Given the description of an element on the screen output the (x, y) to click on. 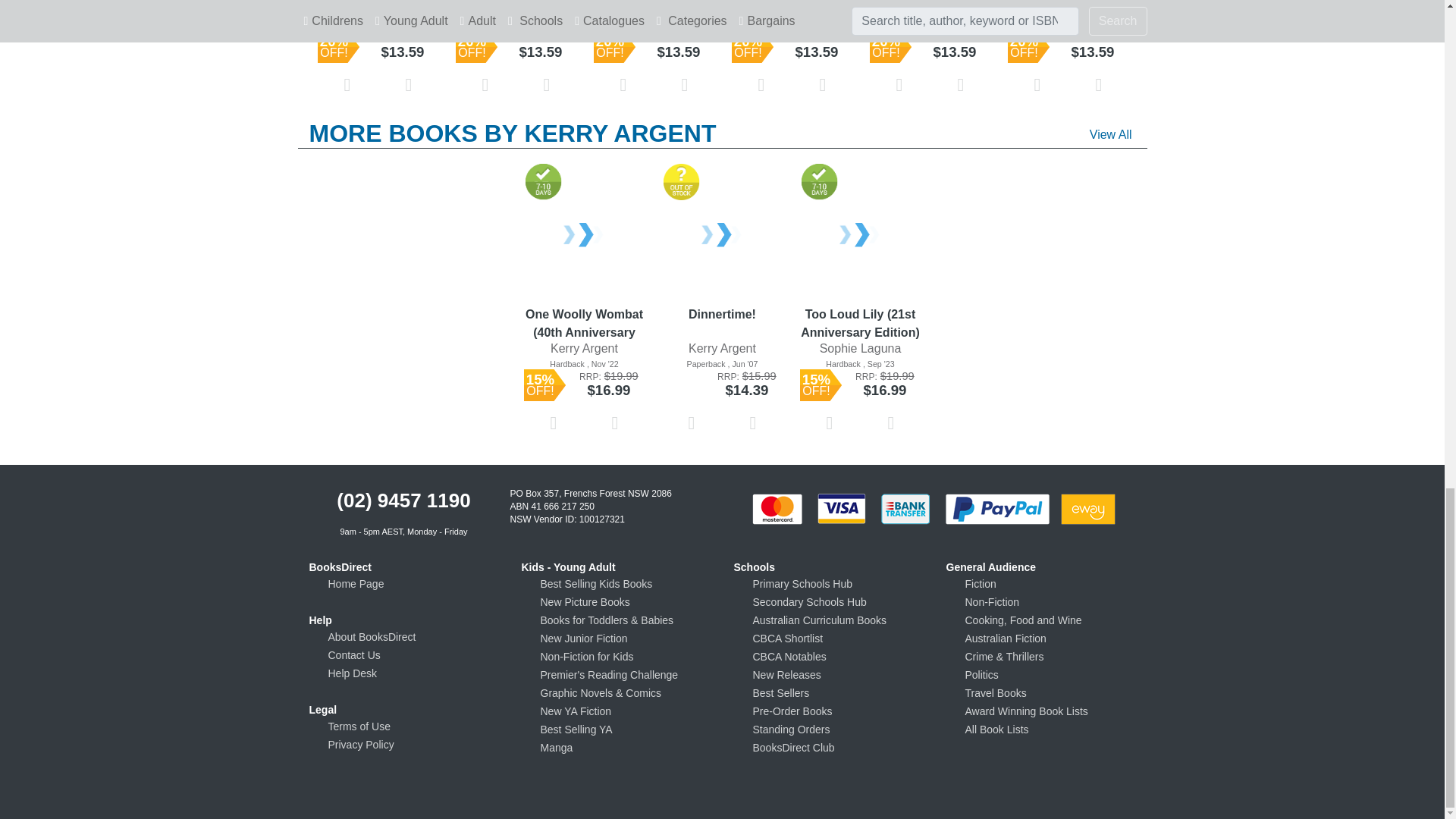
Lynley Dodd (516, 9)
View other books by author Lynley Dodd (514, 10)
Pamela Allen (378, 9)
Hetty's Day Out (378, 0)
Hairy Maclary's Hat Tricks (516, 0)
View other books by author Pamela Allen (377, 10)
